Given the description of an element on the screen output the (x, y) to click on. 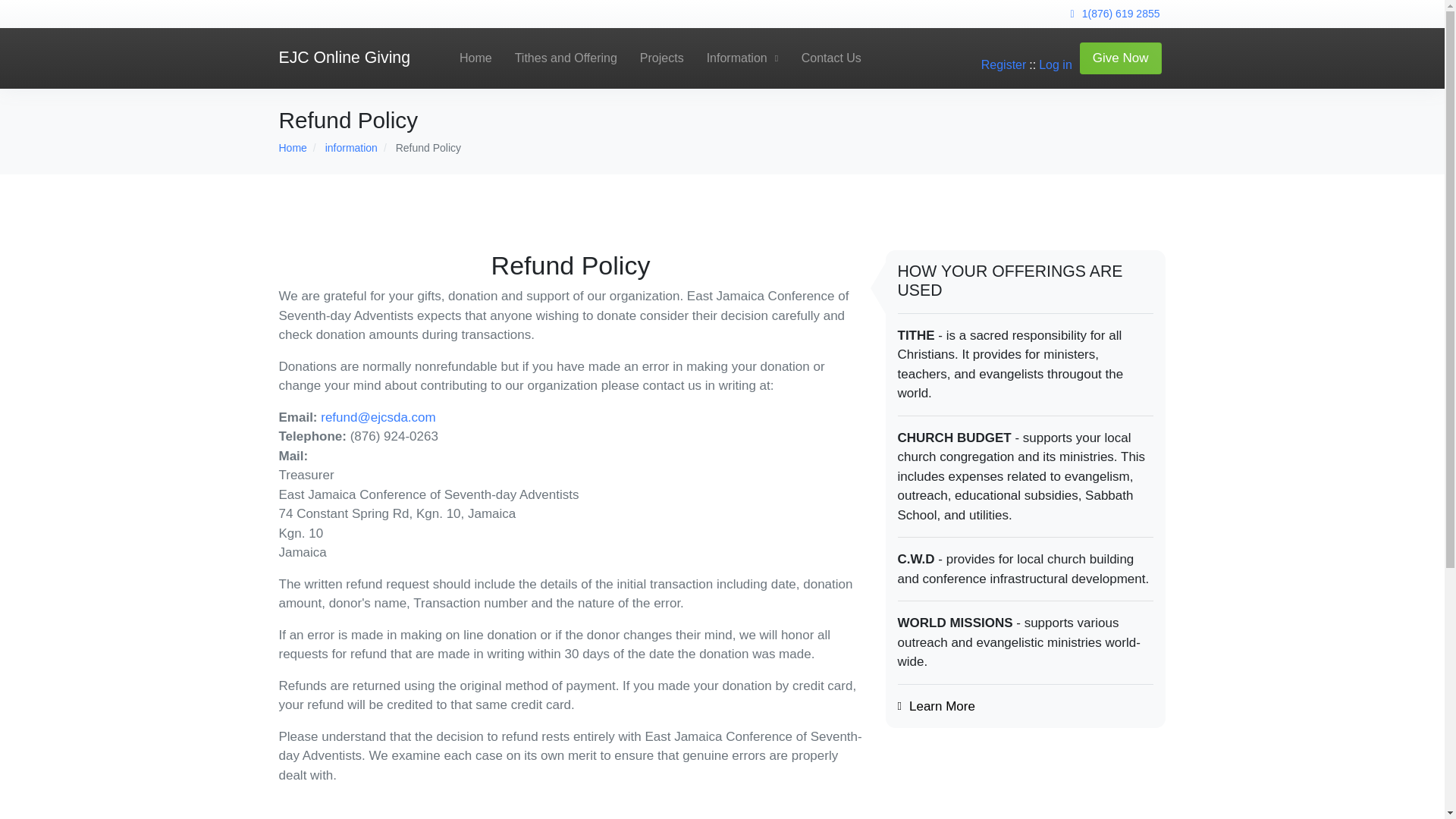
Log in (1055, 64)
Register (1003, 64)
EJC Online Giving (344, 57)
Give Now (1120, 58)
information (350, 147)
Contact Us (831, 57)
Learn More (941, 706)
Information (742, 57)
Home (293, 147)
Tithes and Offering (565, 57)
Projects (661, 57)
Home (475, 57)
